Given the description of an element on the screen output the (x, y) to click on. 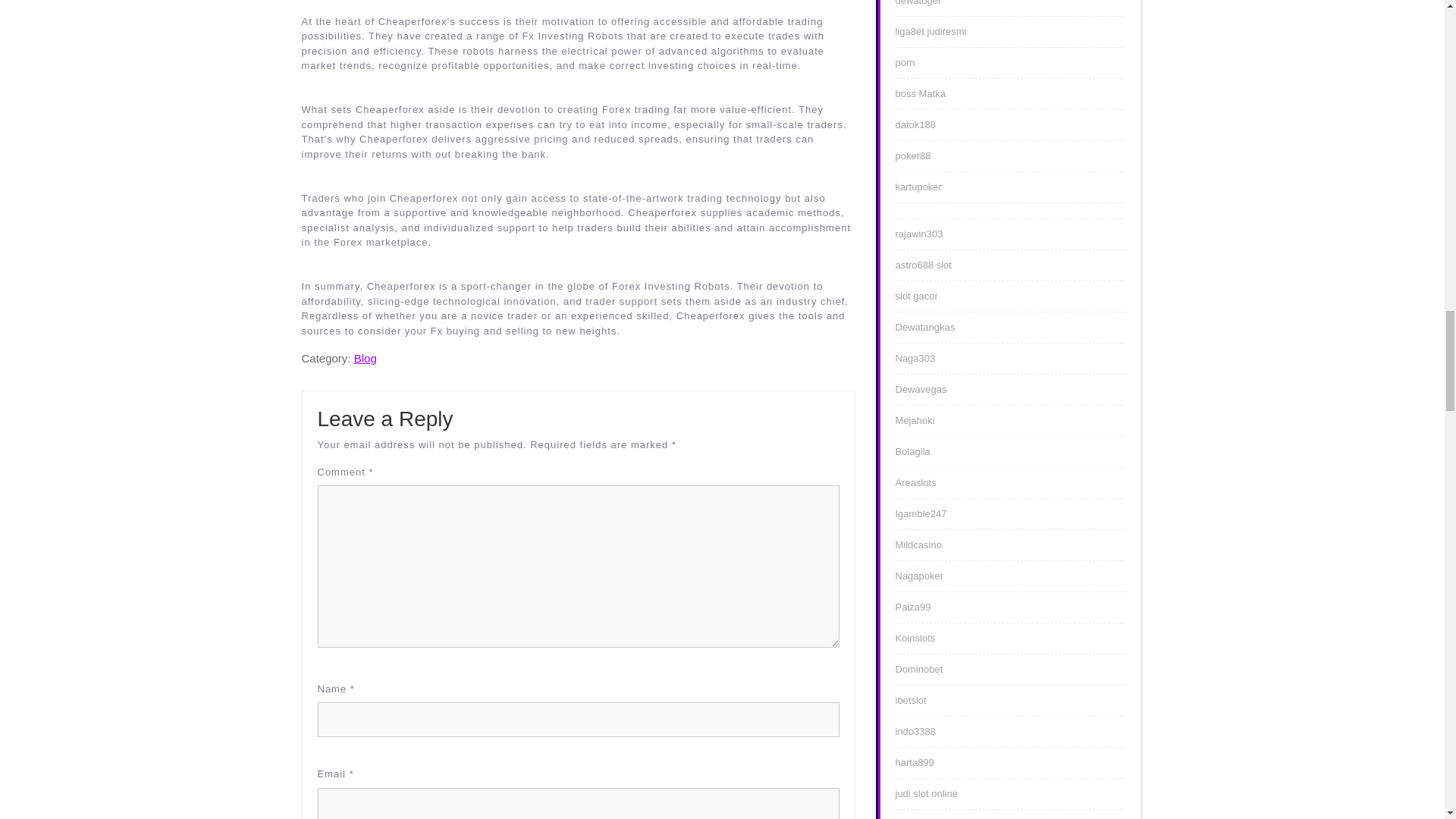
Blog (365, 358)
